Given the description of an element on the screen output the (x, y) to click on. 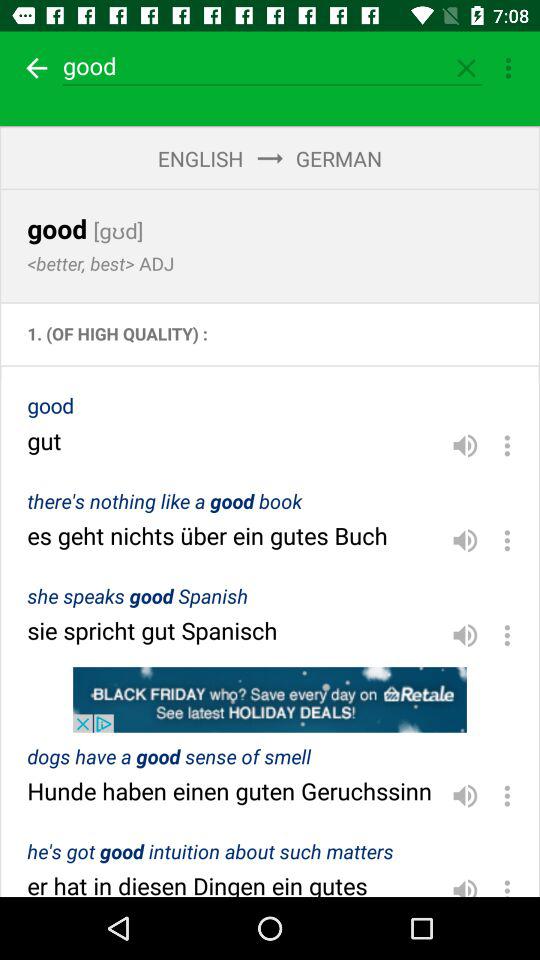
option button (507, 445)
